Given the description of an element on the screen output the (x, y) to click on. 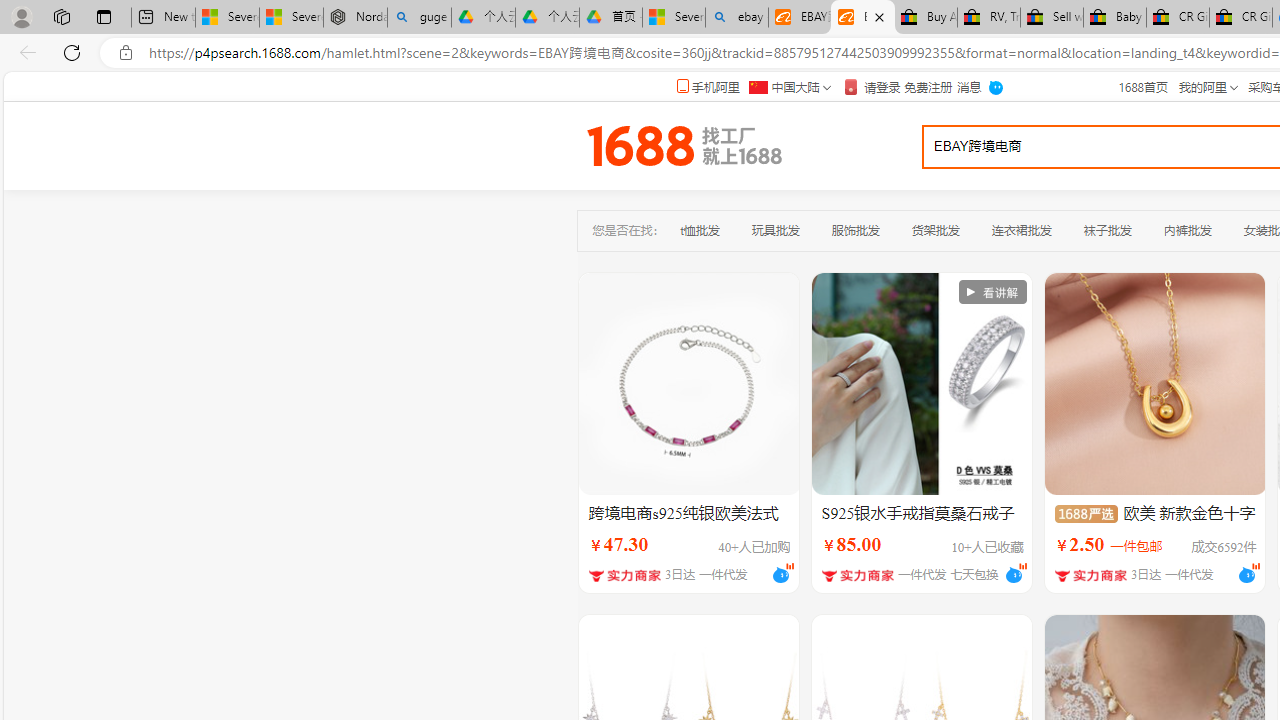
Class: sw-logo (684, 145)
Buy Auto Parts & Accessories | eBay (925, 17)
